Given the description of an element on the screen output the (x, y) to click on. 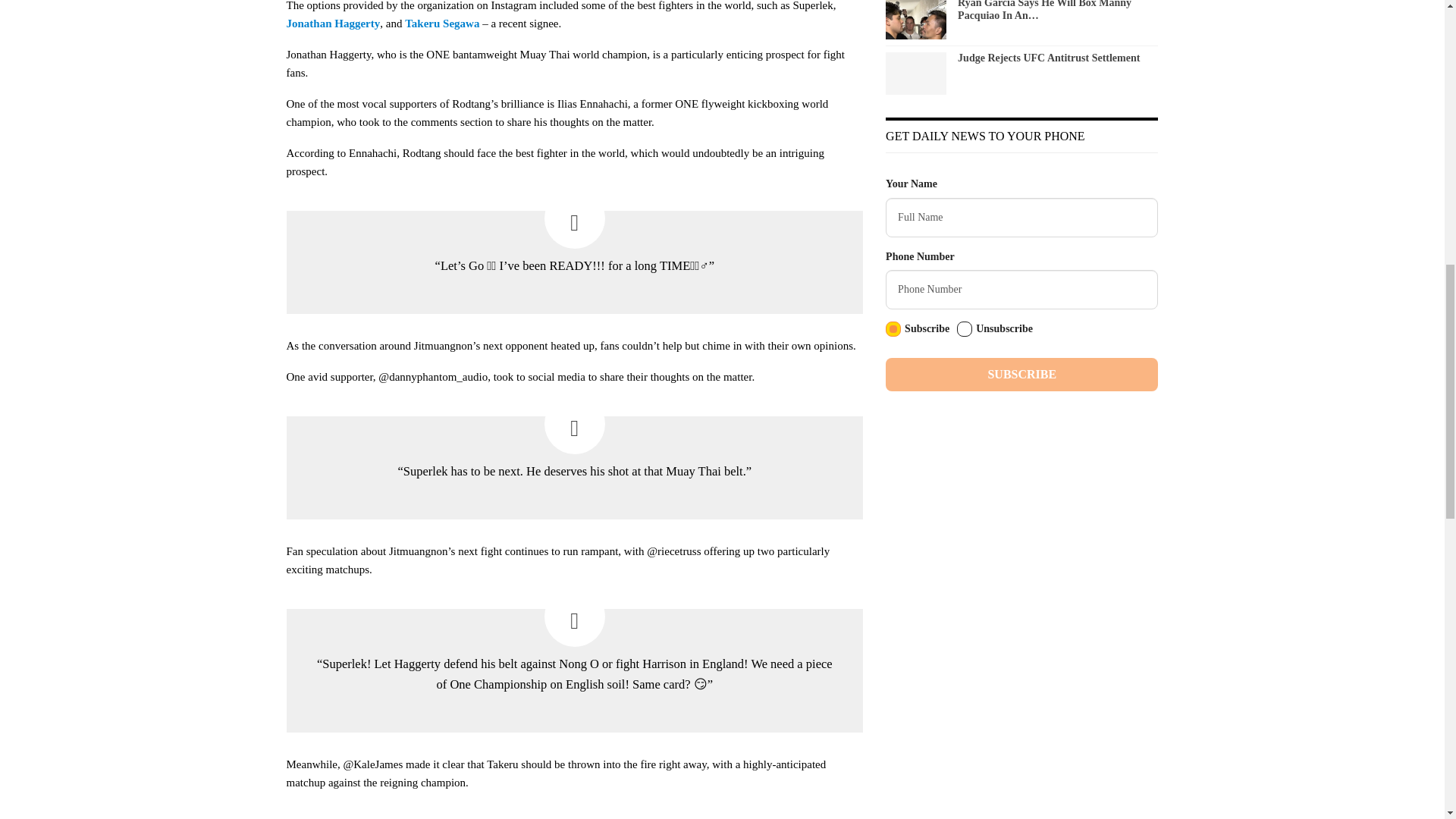
unsubscribe (964, 328)
subscribe (893, 328)
